Given the description of an element on the screen output the (x, y) to click on. 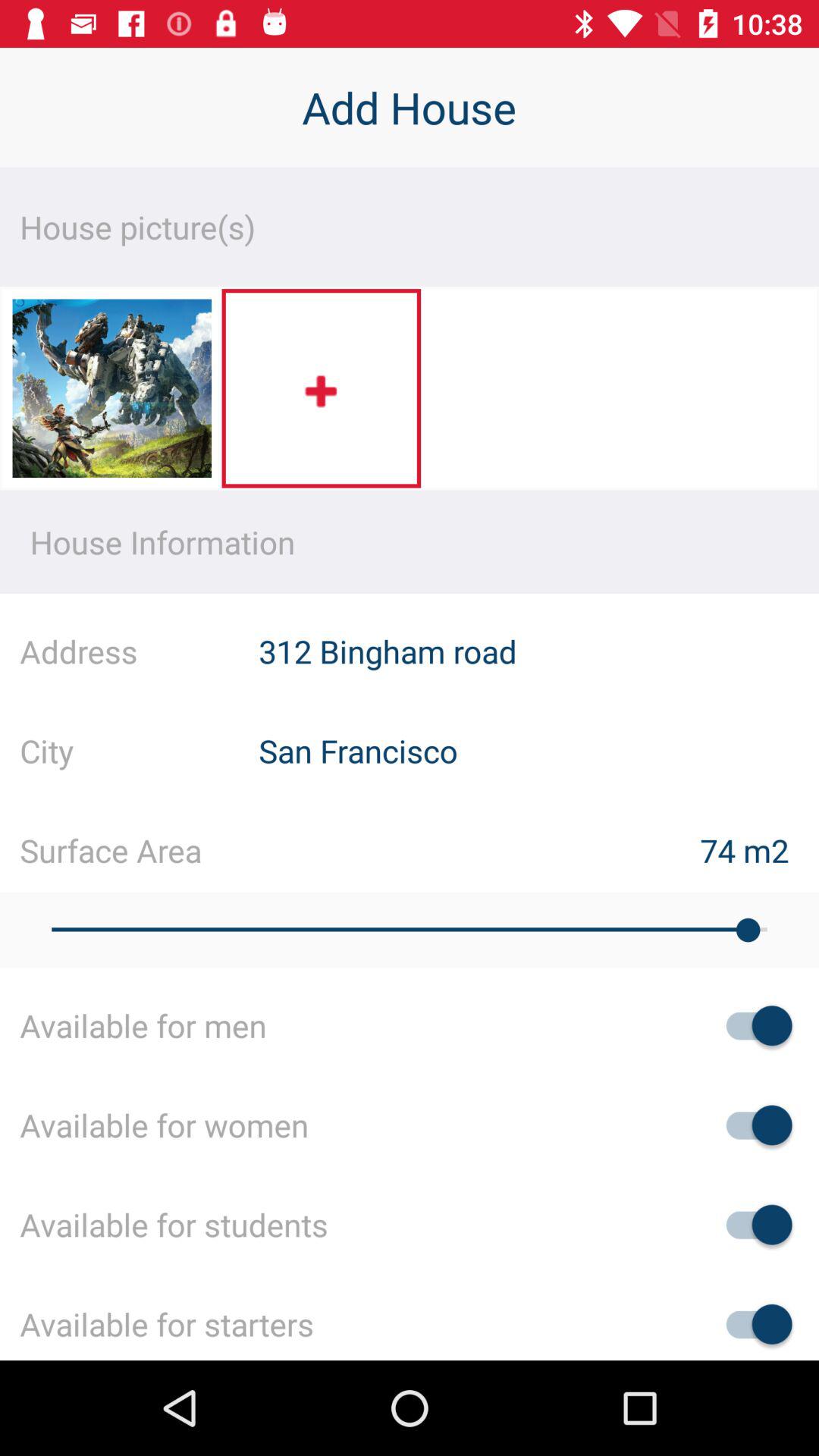
launch item above 74 m2 item (538, 750)
